Given the description of an element on the screen output the (x, y) to click on. 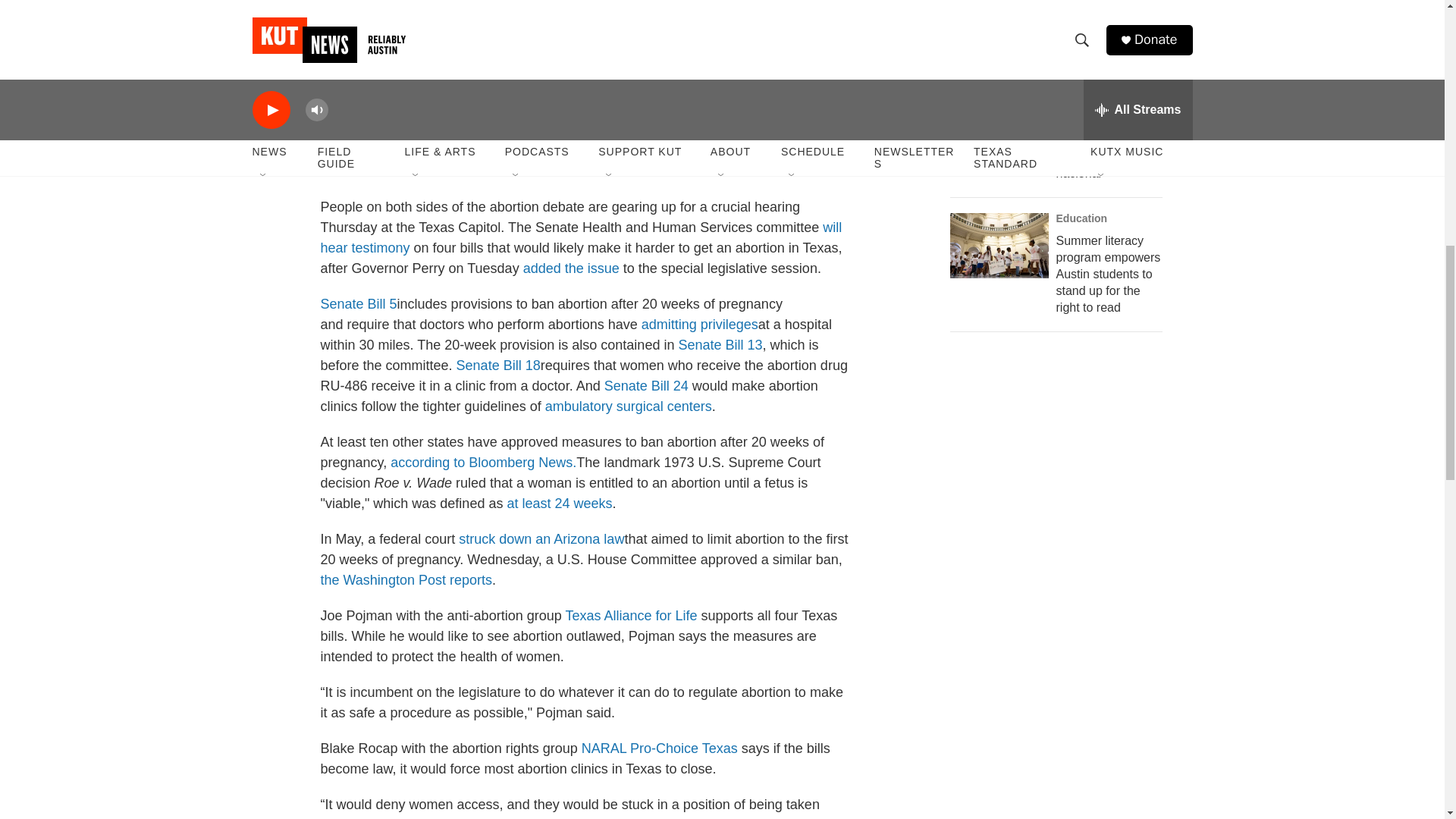
3rd party ad content (1062, 677)
3rd party ad content (1062, 457)
